Given the description of an element on the screen output the (x, y) to click on. 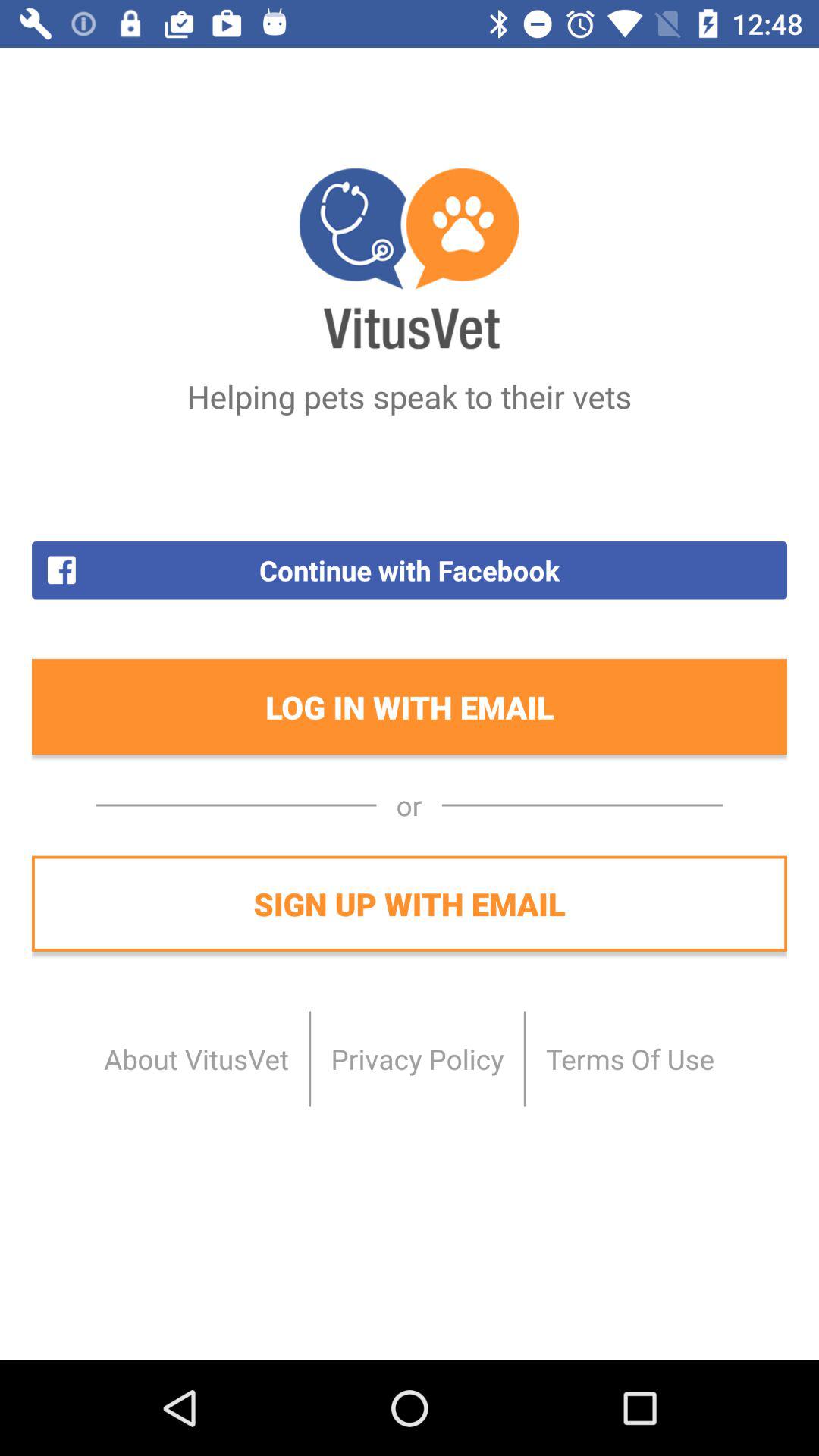
launch the item below the sign up with (196, 1058)
